Given the description of an element on the screen output the (x, y) to click on. 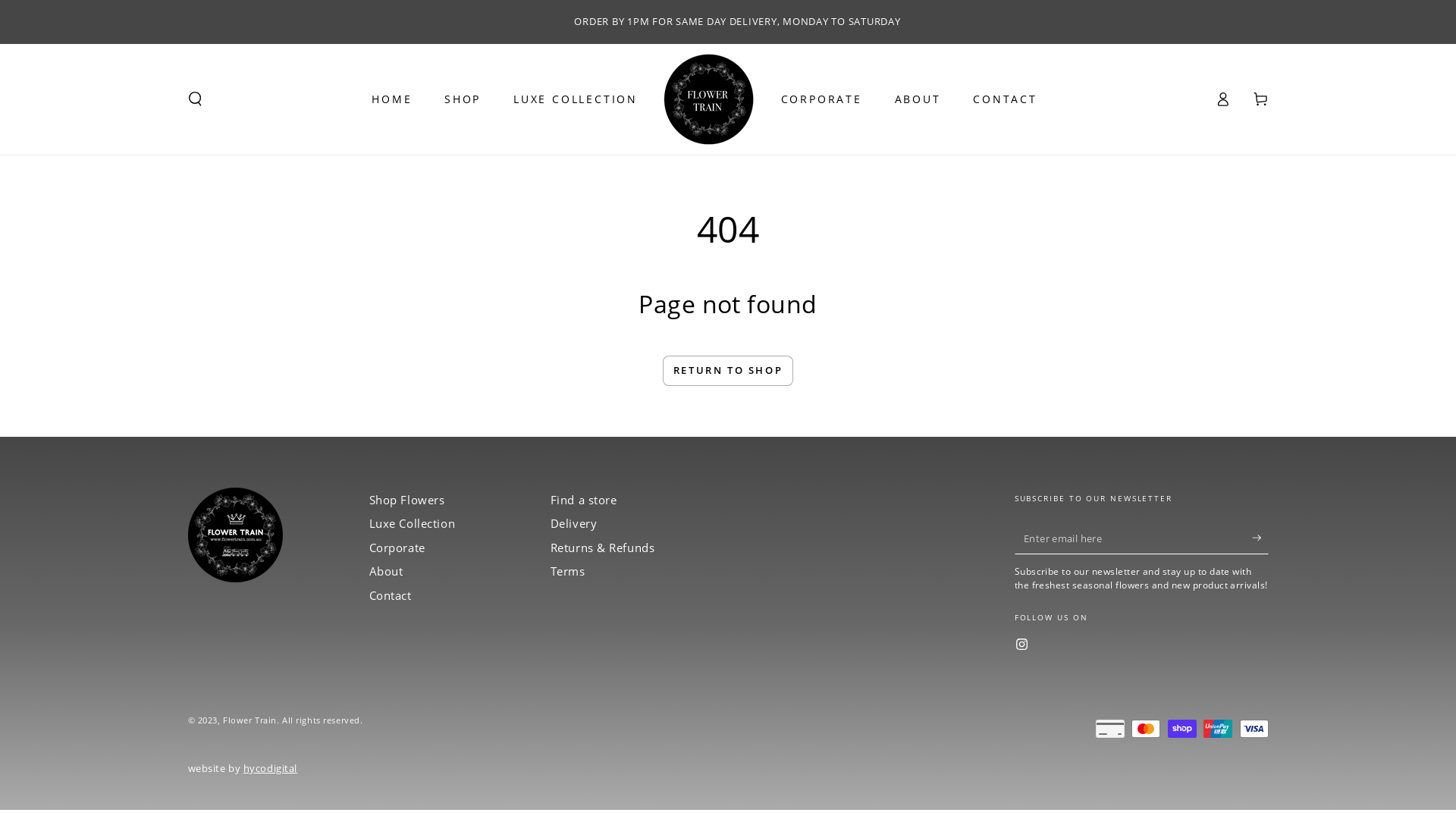
Shop Flowers Element type: text (407, 499)
hycodigital Element type: text (270, 768)
LUXE COLLECTION Element type: text (575, 99)
SHOP Element type: text (462, 99)
CORPORATE Element type: text (820, 99)
Log in Element type: text (1222, 99)
Luxe Collection Element type: text (412, 522)
Cart Element type: text (1259, 99)
Instagram Element type: text (1021, 644)
HOME Element type: text (391, 99)
ABOUT Element type: text (917, 99)
Corporate Element type: text (397, 547)
Returns & Refunds Element type: text (602, 547)
Contact Element type: text (390, 594)
CONTACT Element type: text (1005, 99)
Delivery Element type: text (573, 522)
Flower Train Element type: text (249, 719)
RETURN TO SHOP Element type: text (727, 370)
Find a store Element type: text (583, 499)
Terms Element type: text (567, 570)
About Element type: text (386, 570)
